Given the description of an element on the screen output the (x, y) to click on. 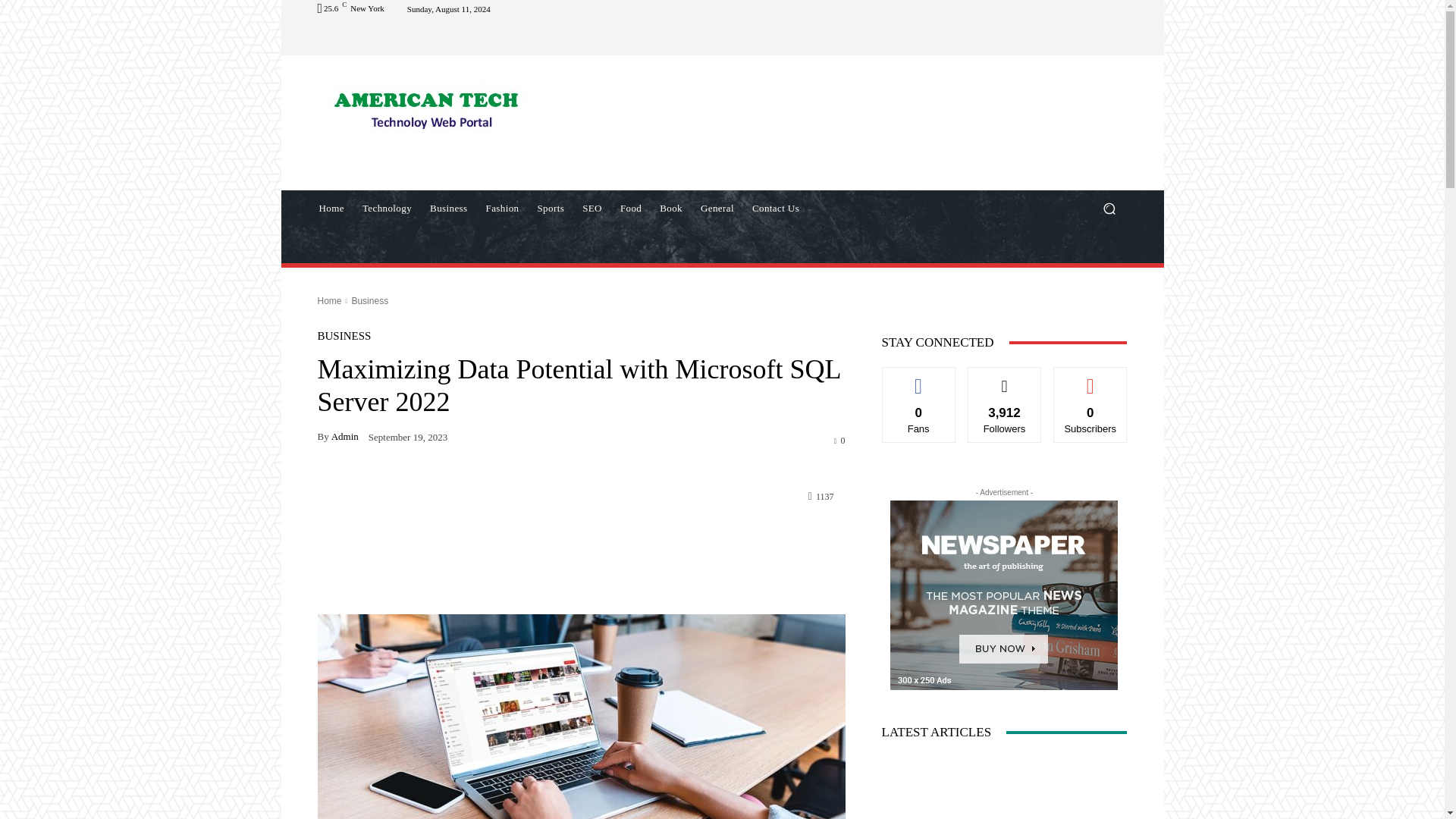
Business (448, 208)
View all posts in Business (369, 300)
General (716, 208)
Home (328, 300)
Home (330, 208)
Fashion (501, 208)
Technology (386, 208)
Sports (550, 208)
SEO (592, 208)
Book (670, 208)
